Given the description of an element on the screen output the (x, y) to click on. 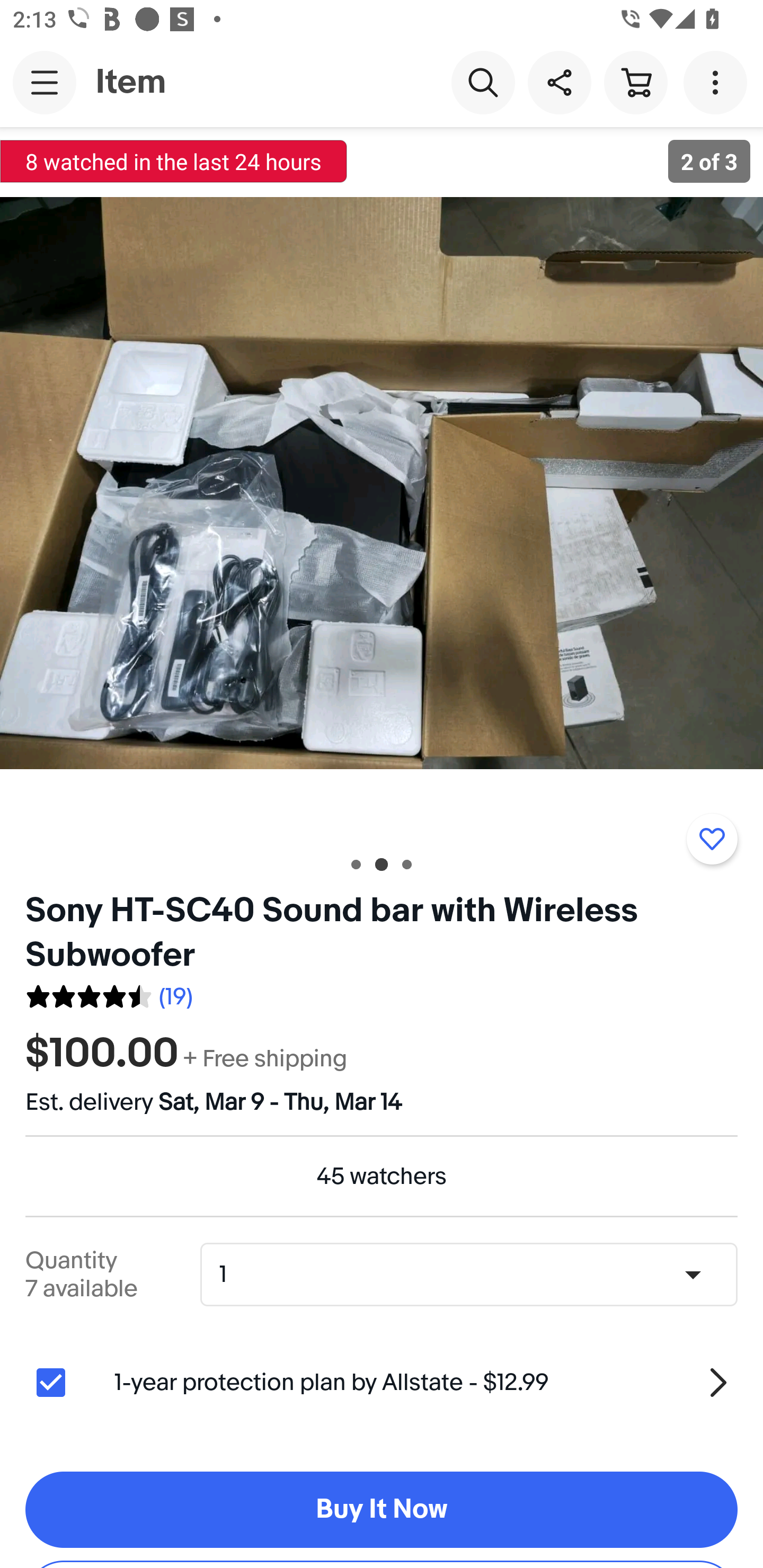
Main navigation, open (44, 82)
Search (482, 81)
Share this item (559, 81)
Cart button shopping cart (635, 81)
More options (718, 81)
Item image 2 of 3 (381, 482)
8 watched in the last 24 hours (173, 161)
Add to watchlist (711, 838)
Quantity,1,7 available 1 (474, 1274)
1-year protection plan by Allstate - $12.99 (425, 1382)
Buy It Now (381, 1509)
